Given the description of an element on the screen output the (x, y) to click on. 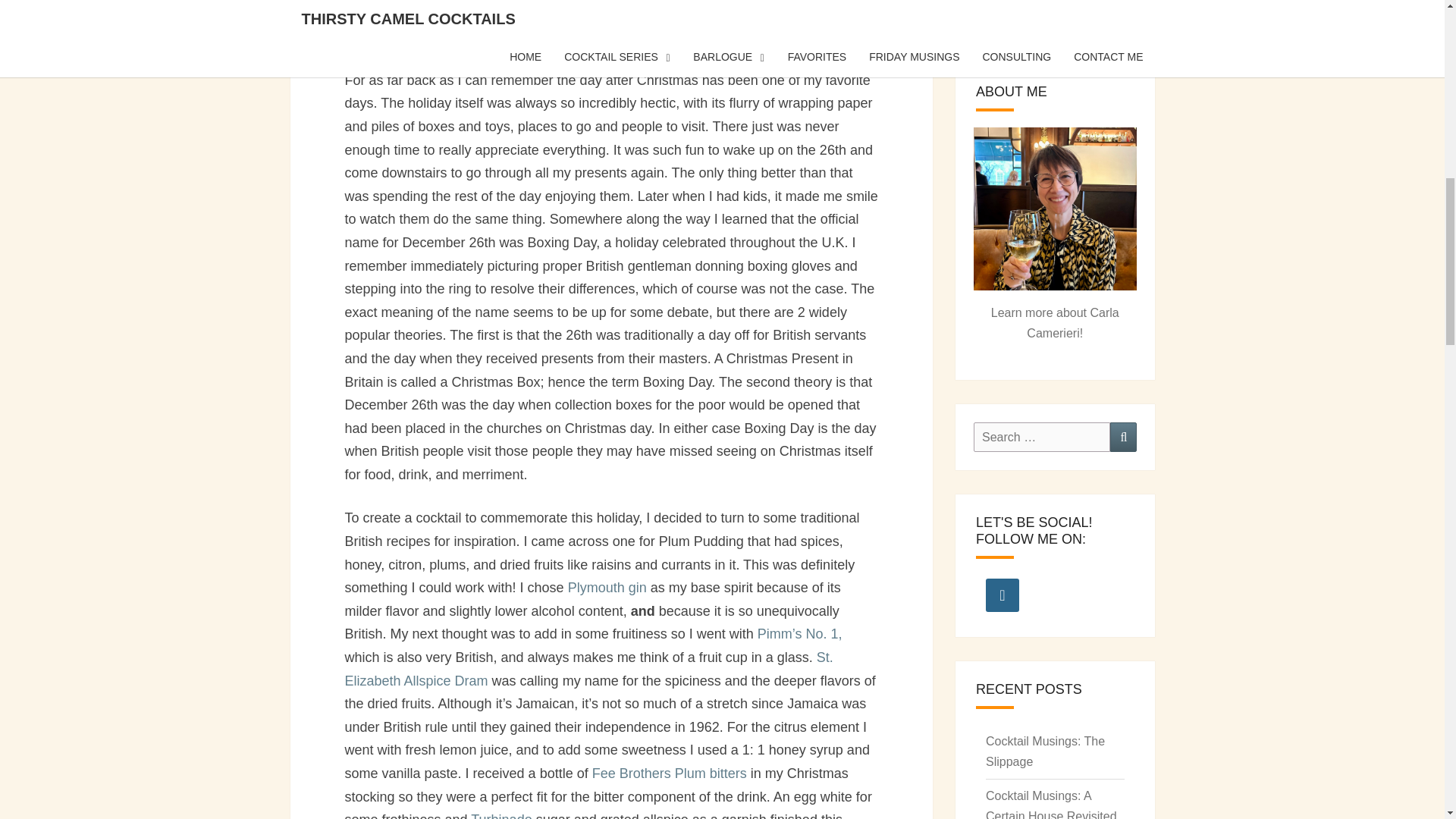
Plymouth gin (606, 587)
Turbinado (500, 815)
St. Elizabeth Allspice Dram (587, 669)
Fee Brothers Plum bitters (669, 773)
Search for: (1041, 437)
